Given the description of an element on the screen output the (x, y) to click on. 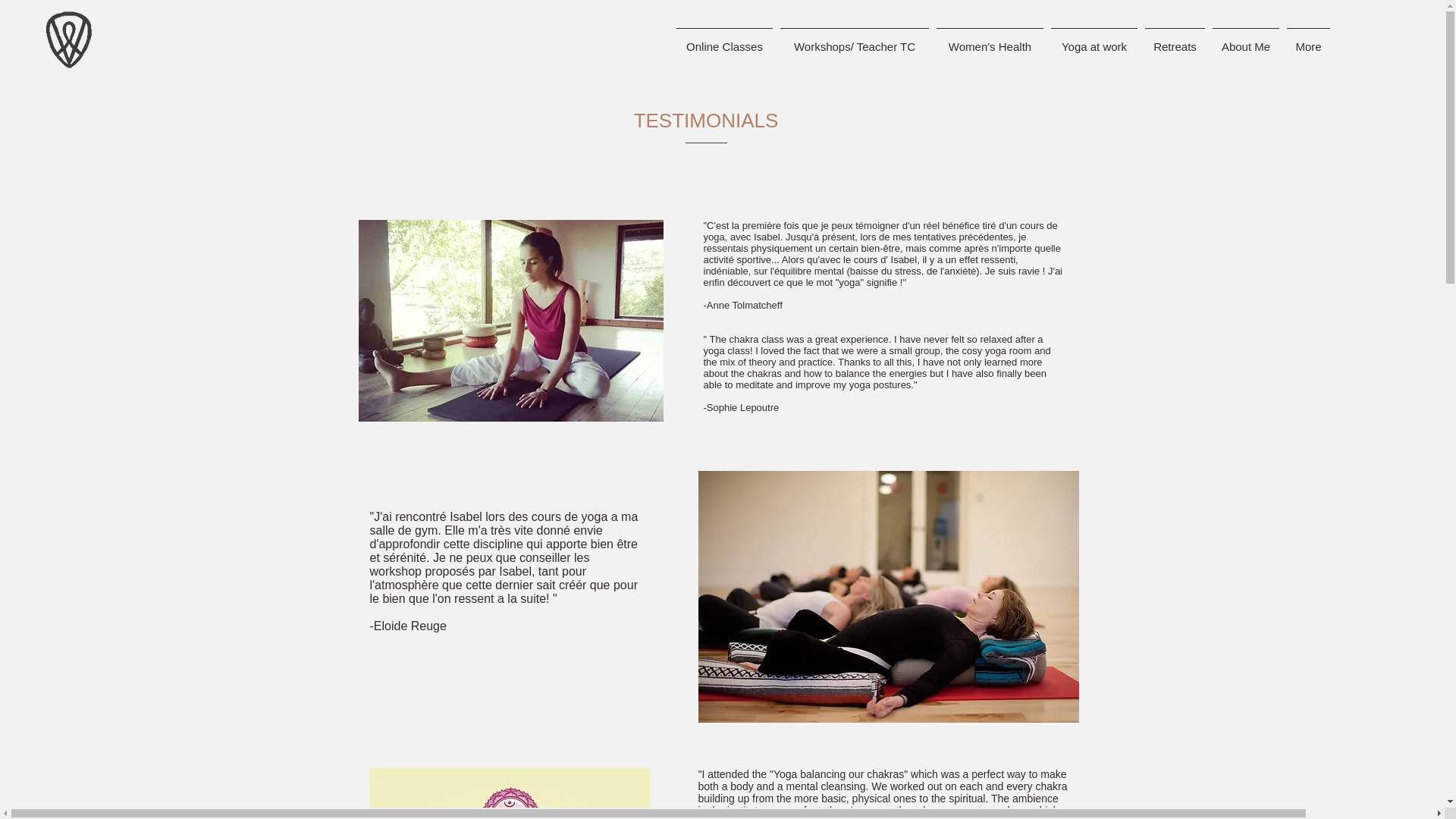
Women's Health (989, 39)
Yoga at work (1093, 39)
